Given the description of an element on the screen output the (x, y) to click on. 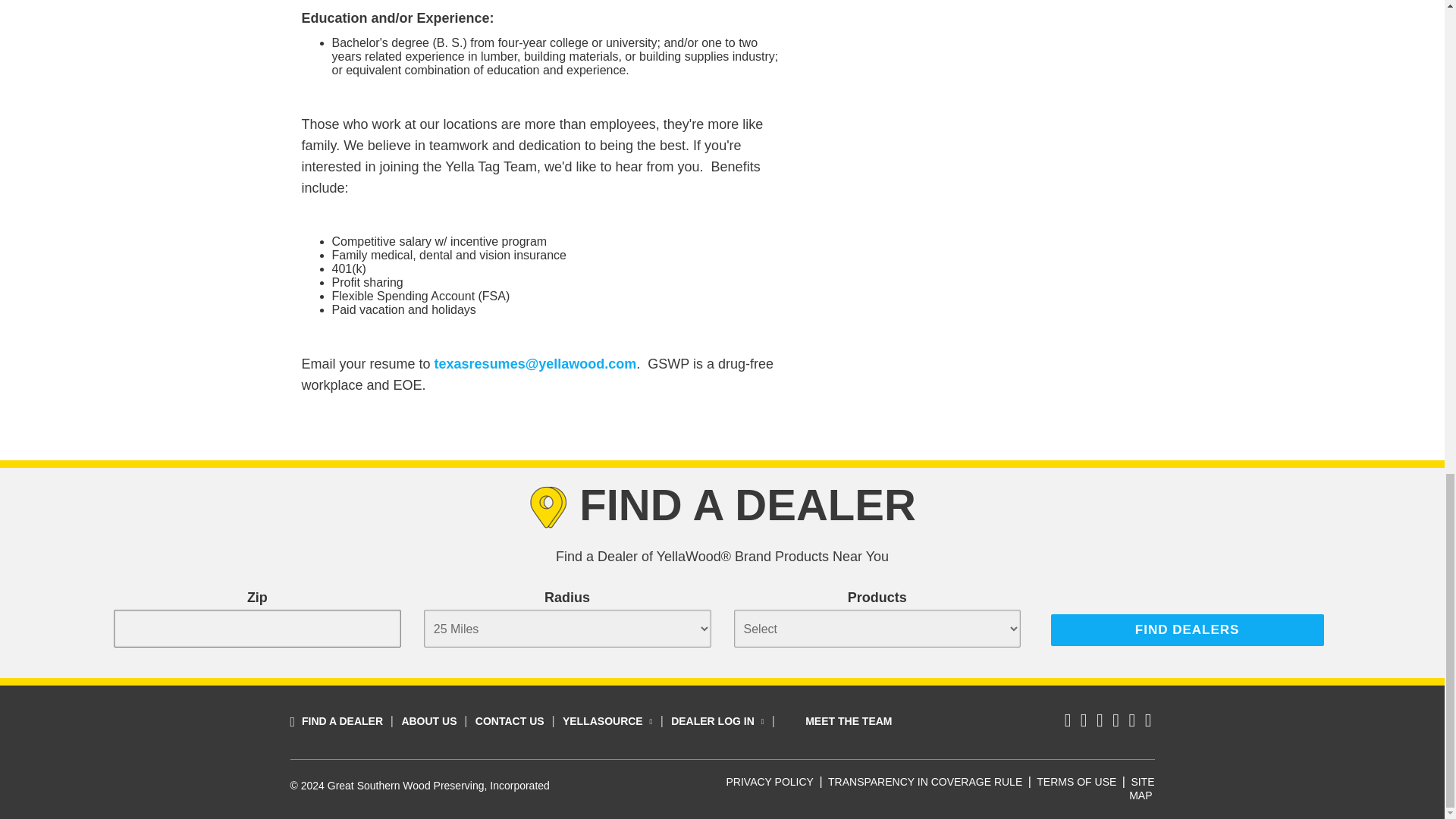
Find Dealers (1187, 630)
